Given the description of an element on the screen output the (x, y) to click on. 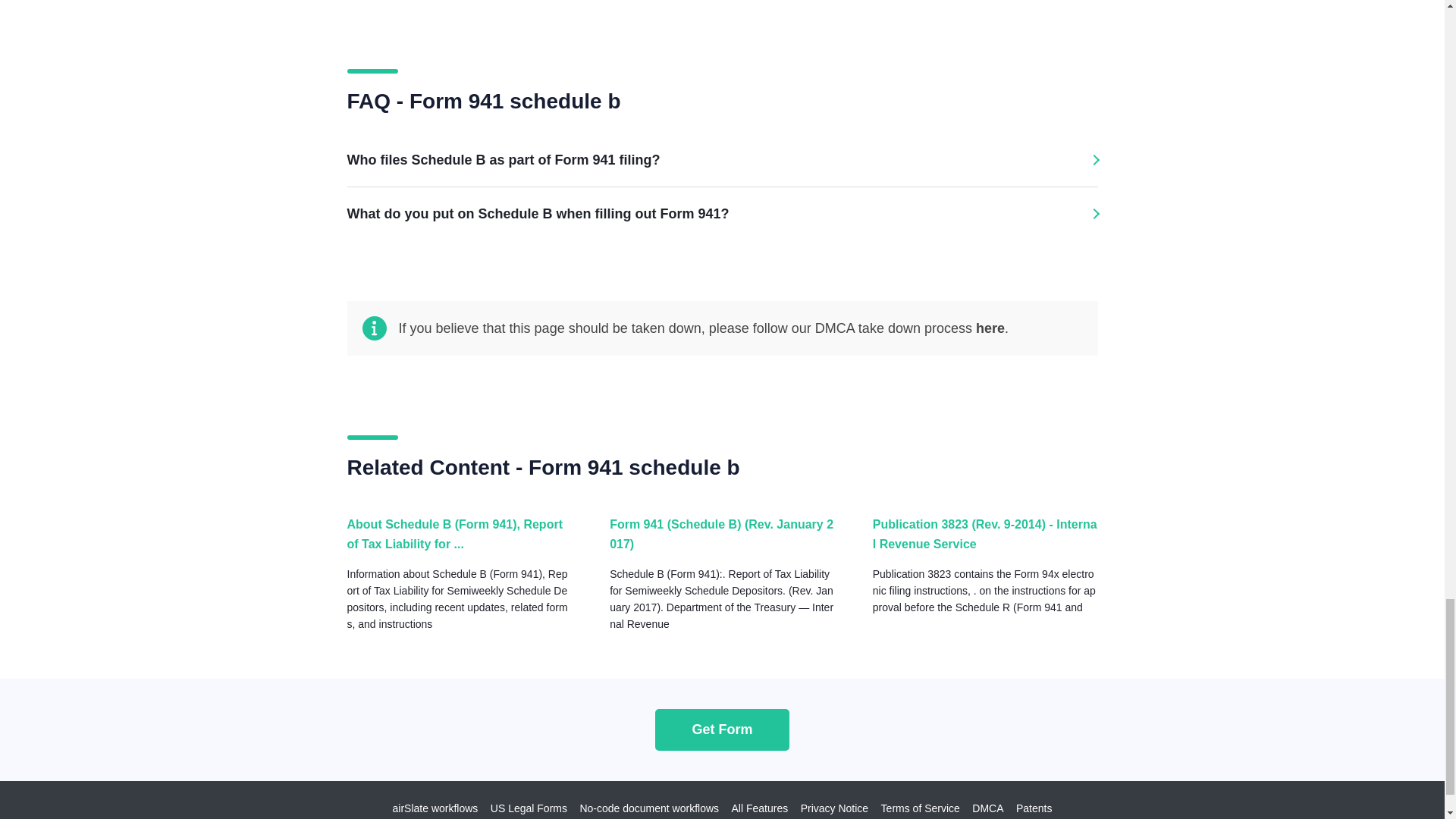
No-code document workflows (649, 808)
Privacy Notice (833, 808)
DMCA (987, 808)
here (989, 328)
Get Form (722, 729)
Terms of Service (919, 808)
All Features (760, 808)
US Legal Forms (528, 808)
Patents (1033, 808)
airSlate workflows (436, 808)
